Given the description of an element on the screen output the (x, y) to click on. 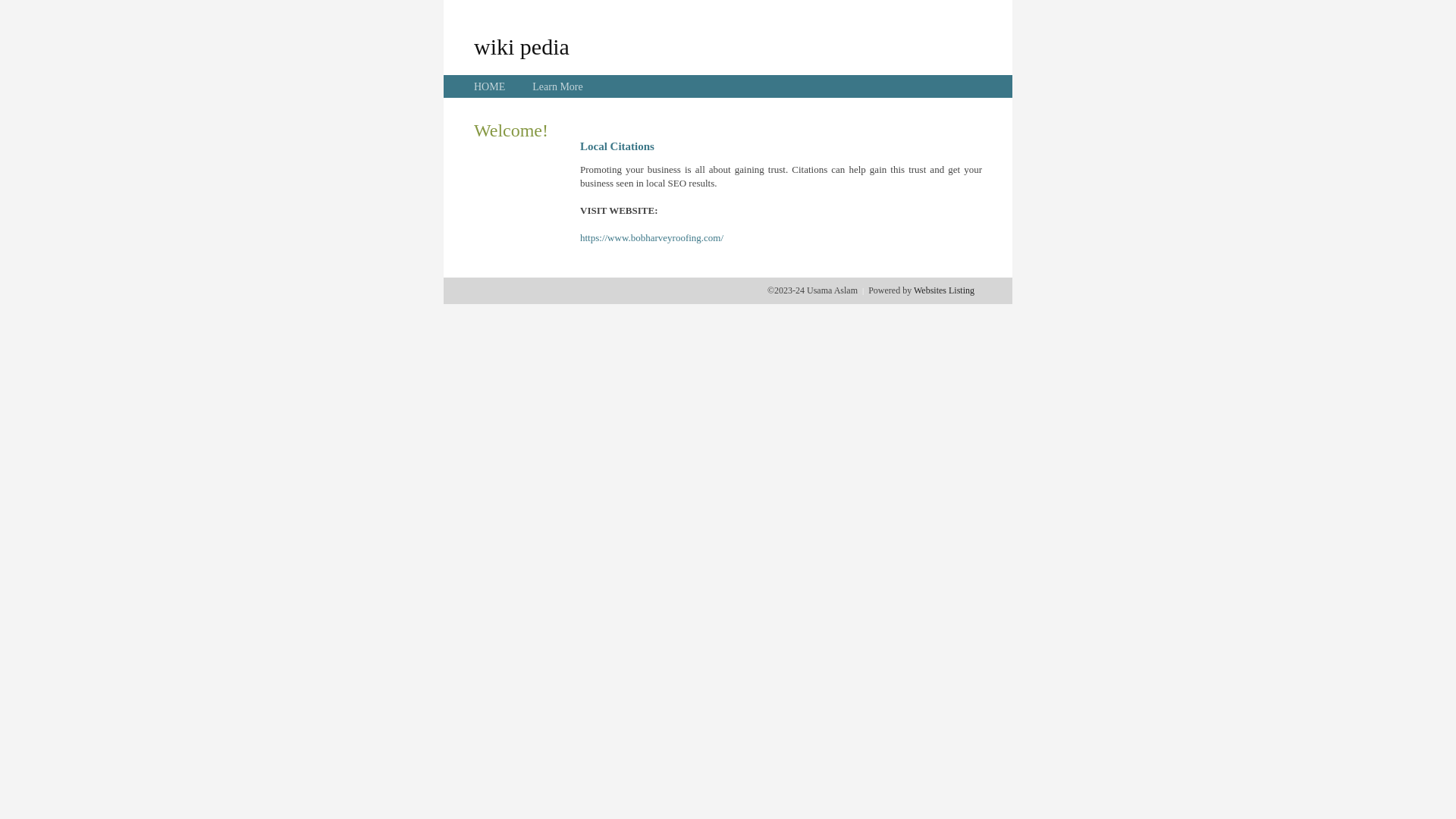
HOME Element type: text (489, 86)
wiki pedia Element type: text (521, 46)
Websites Listing Element type: text (943, 290)
https://www.bobharveyroofing.com/ Element type: text (651, 237)
Learn More Element type: text (557, 86)
